Given the description of an element on the screen output the (x, y) to click on. 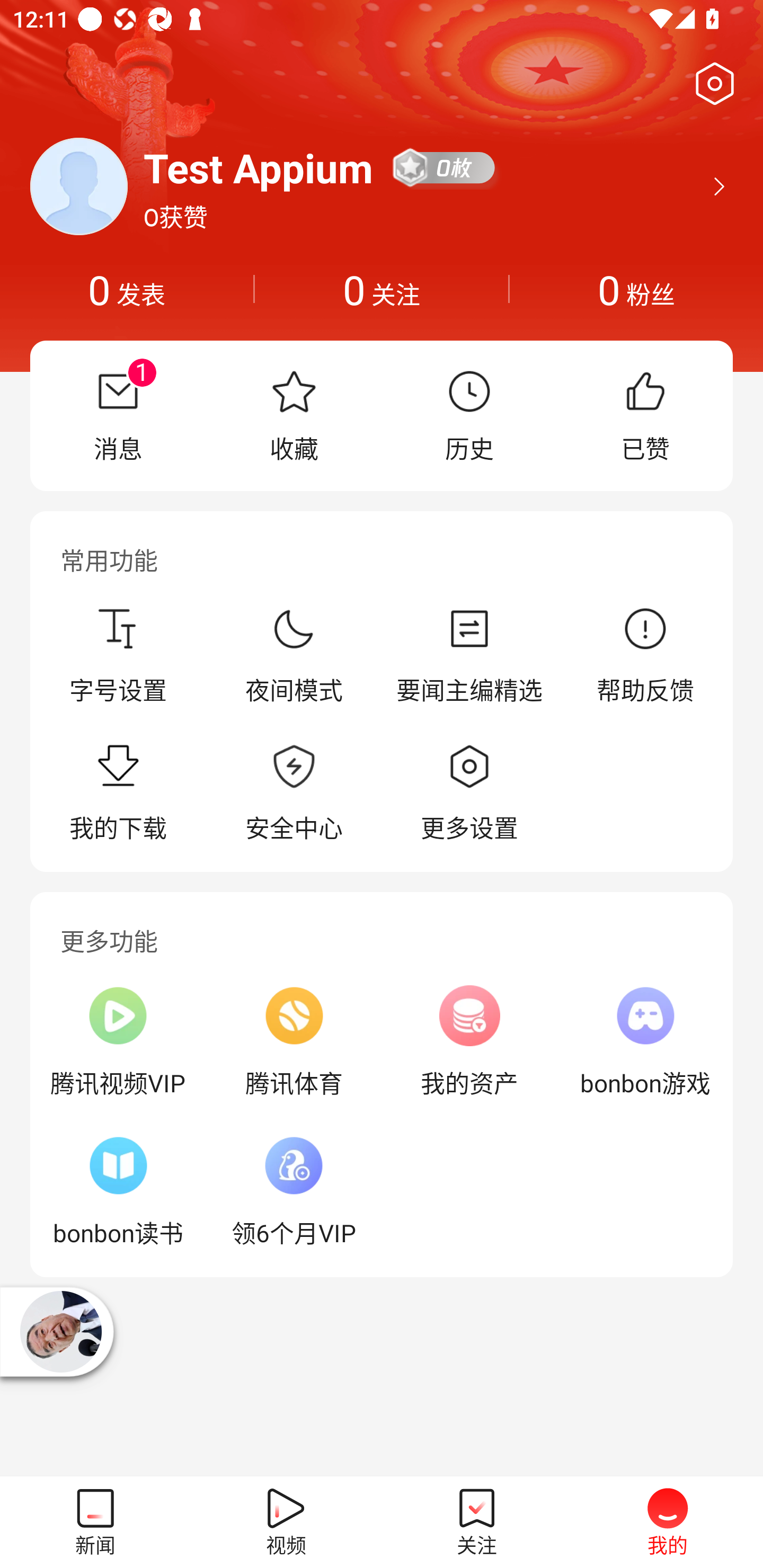
设置，可点击 (711, 83)
头像，可点击 (78, 186)
用户：Test Appium，可点击 (258, 167)
0枚勋章，可点击 (444, 167)
0发表，可点击 (126, 288)
0关注，可点击 (381, 288)
0粉丝，可点击 (636, 288)
消息，可点击 (118, 415)
收藏，可点击 (293, 415)
历史，可点击 (469, 415)
已赞，可点击 (644, 415)
字号设置，可点击 (118, 655)
夜间模式，可点击 (293, 655)
要闻主编精选，可点击 (469, 655)
帮助反馈，可点击 (644, 655)
我的下载，可点击 (118, 793)
安全中心，可点击 (293, 793)
更多设置，可点击 (469, 793)
腾讯视频VIP，可点击 (118, 1041)
腾讯体育，可点击 (293, 1041)
我的资产，可点击 (469, 1041)
bonbon游戏，可点击 (644, 1041)
bonbon读书，可点击 (118, 1191)
领6个月VIP，可点击 (293, 1191)
播放器 (60, 1331)
